Given the description of an element on the screen output the (x, y) to click on. 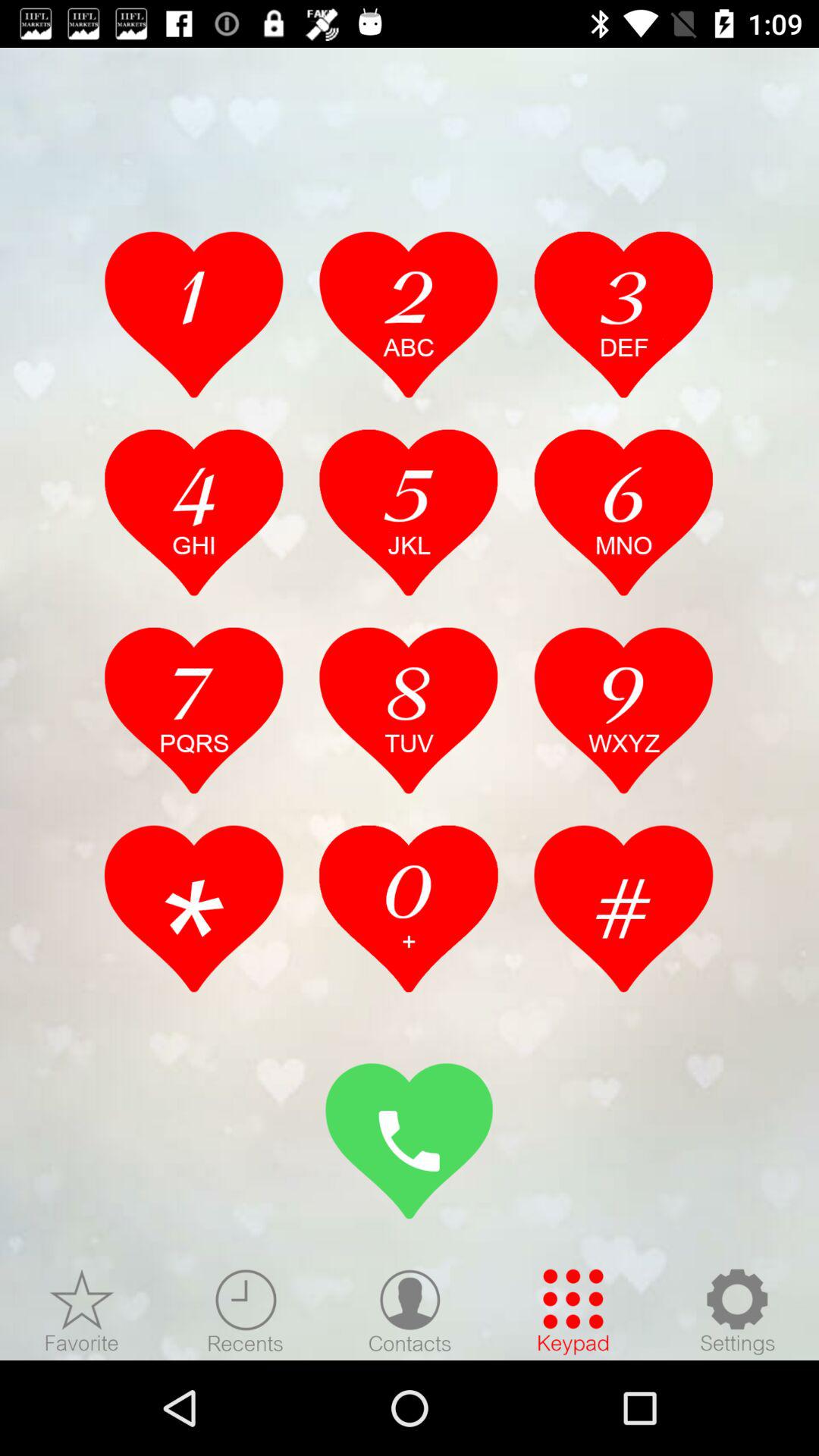
check recents (245, 1311)
